Given the description of an element on the screen output the (x, y) to click on. 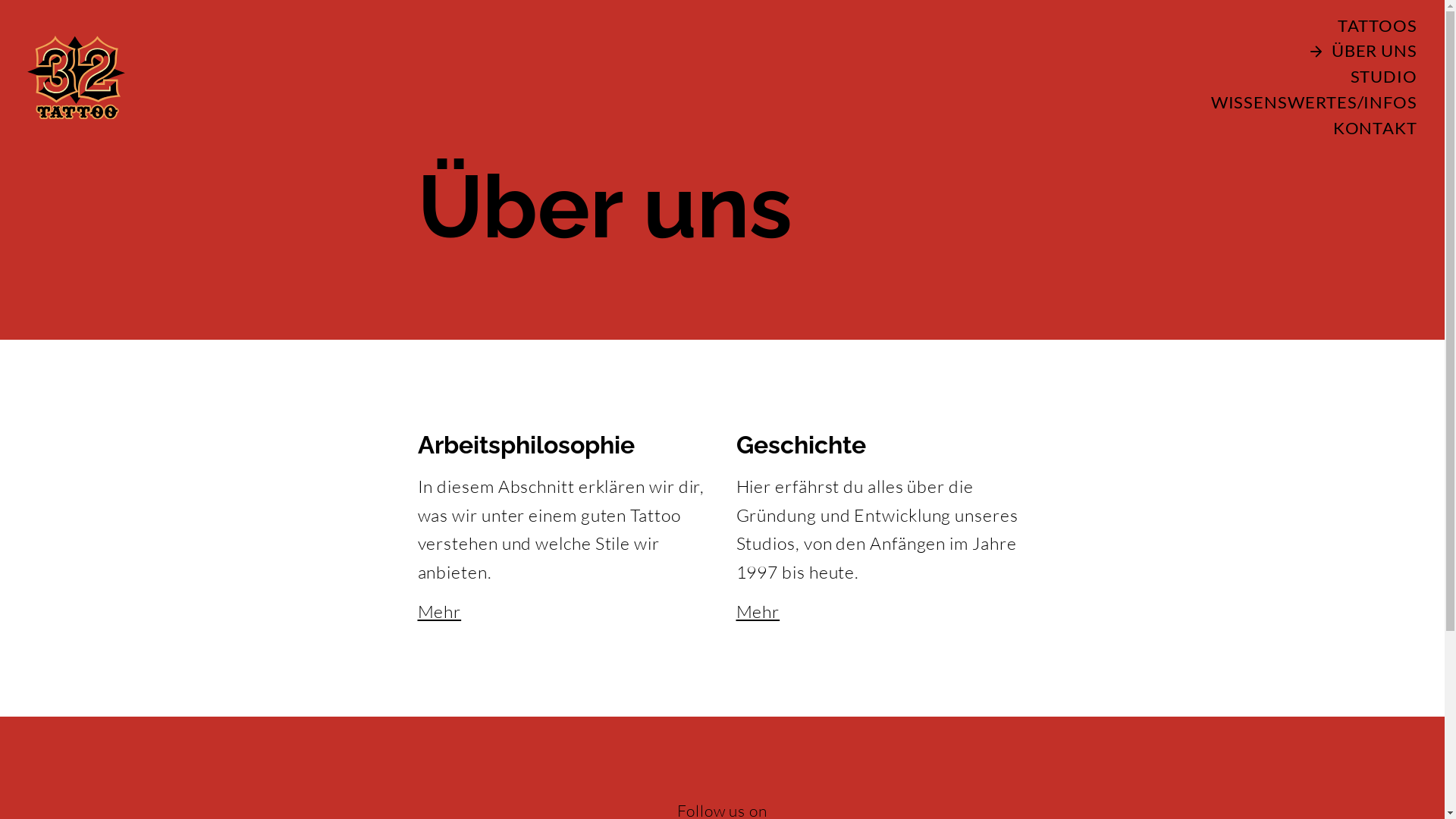
STUDIO Element type: text (1365, 77)
WISSENSWERTES/INFOS Element type: text (1295, 103)
Mehr Element type: text (439, 610)
TATTOOS Element type: text (1359, 26)
Mehr Element type: text (757, 610)
KONTAKT Element type: text (1356, 128)
